Given the description of an element on the screen output the (x, y) to click on. 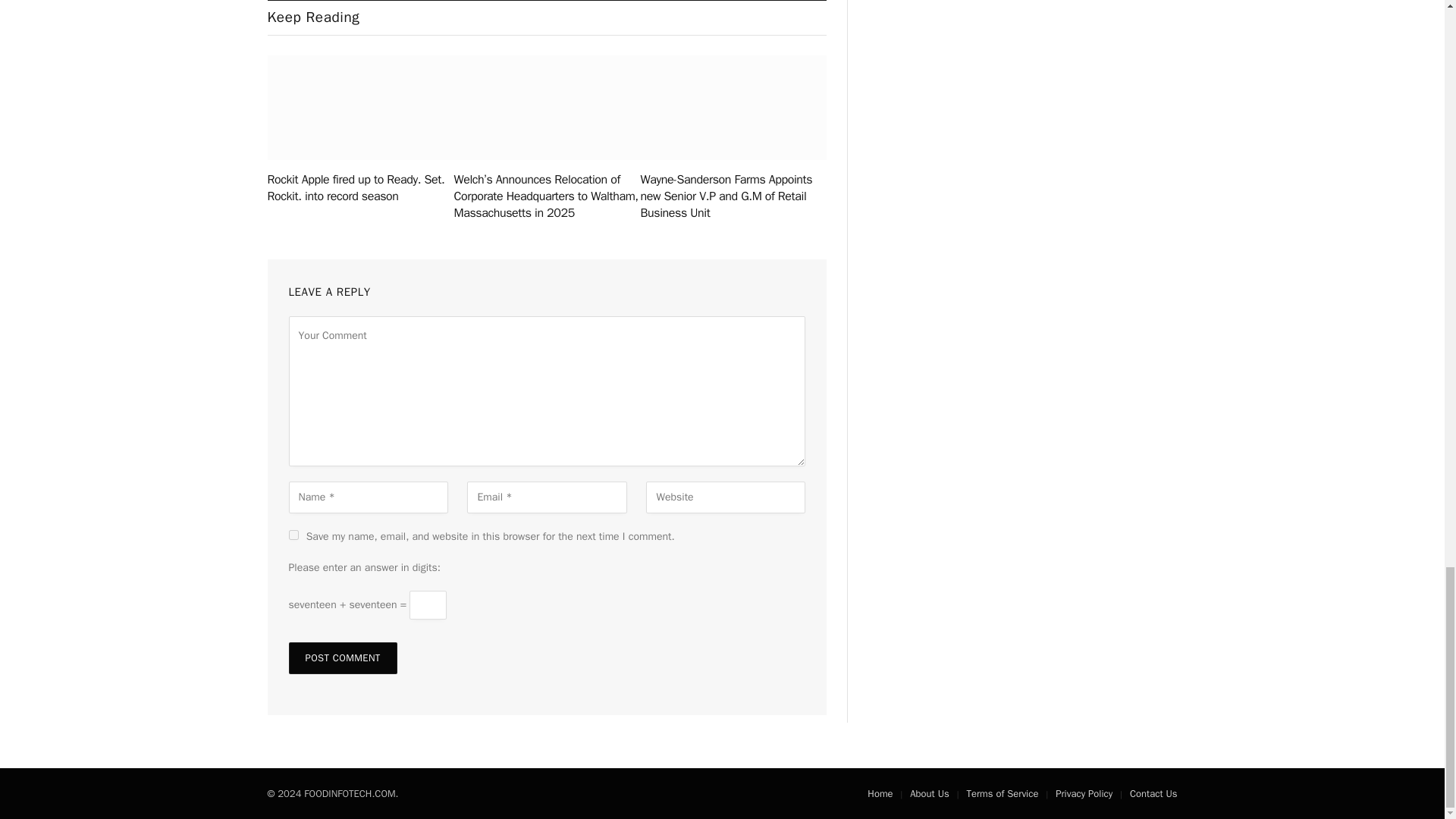
yes (293, 534)
Post Comment (342, 658)
